Given the description of an element on the screen output the (x, y) to click on. 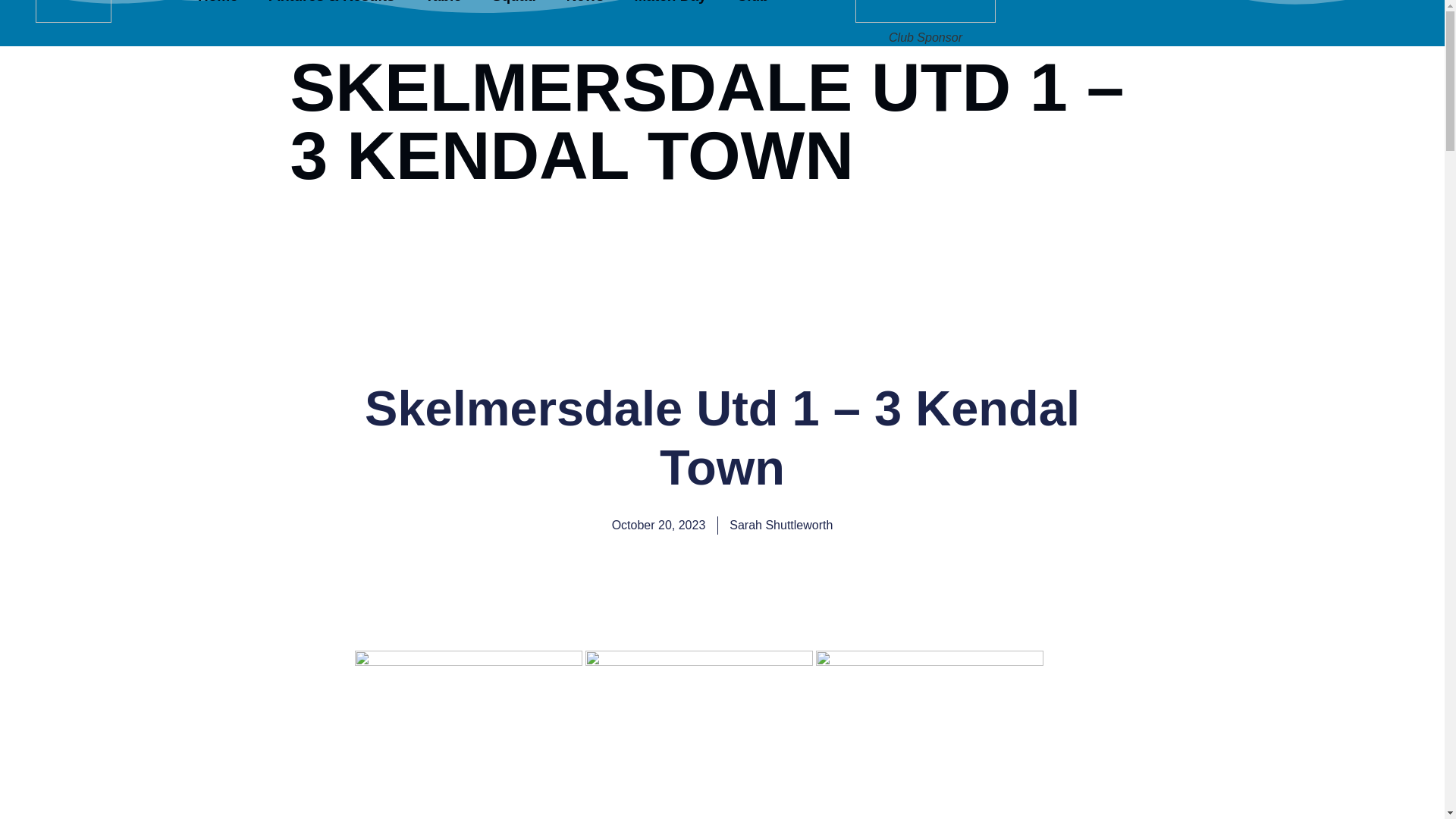
Match Day (669, 6)
Sarah Shuttleworth (780, 525)
Table (443, 6)
Squad (514, 6)
Club (753, 6)
News (585, 6)
Home (218, 6)
October 20, 2023 (658, 525)
